Given the description of an element on the screen output the (x, y) to click on. 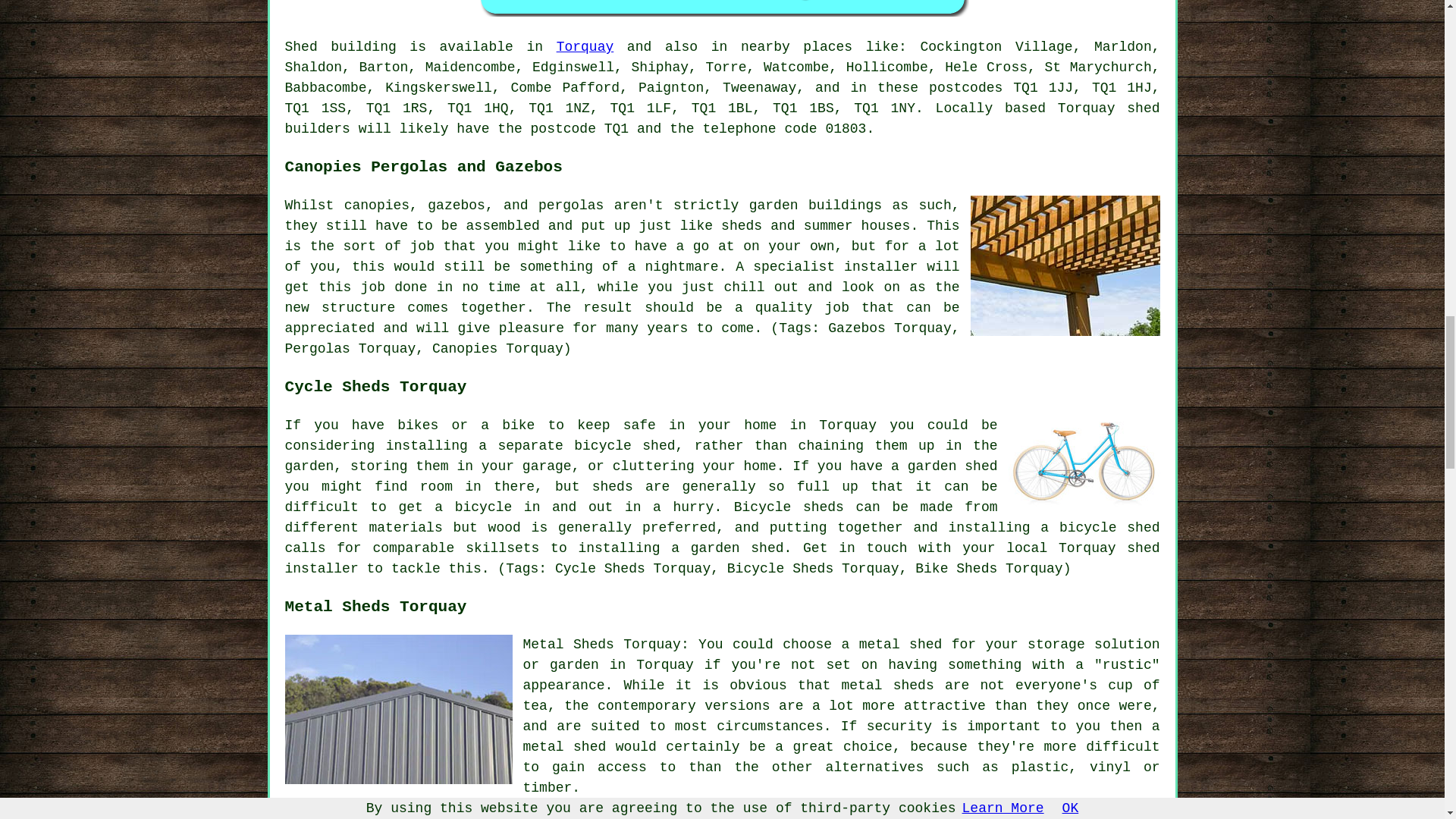
Pergolas Gazebos Canopies Torquay (1065, 265)
Cycle Sheds Torquay (1084, 460)
Metal Sheds Torquay (398, 708)
